Given the description of an element on the screen output the (x, y) to click on. 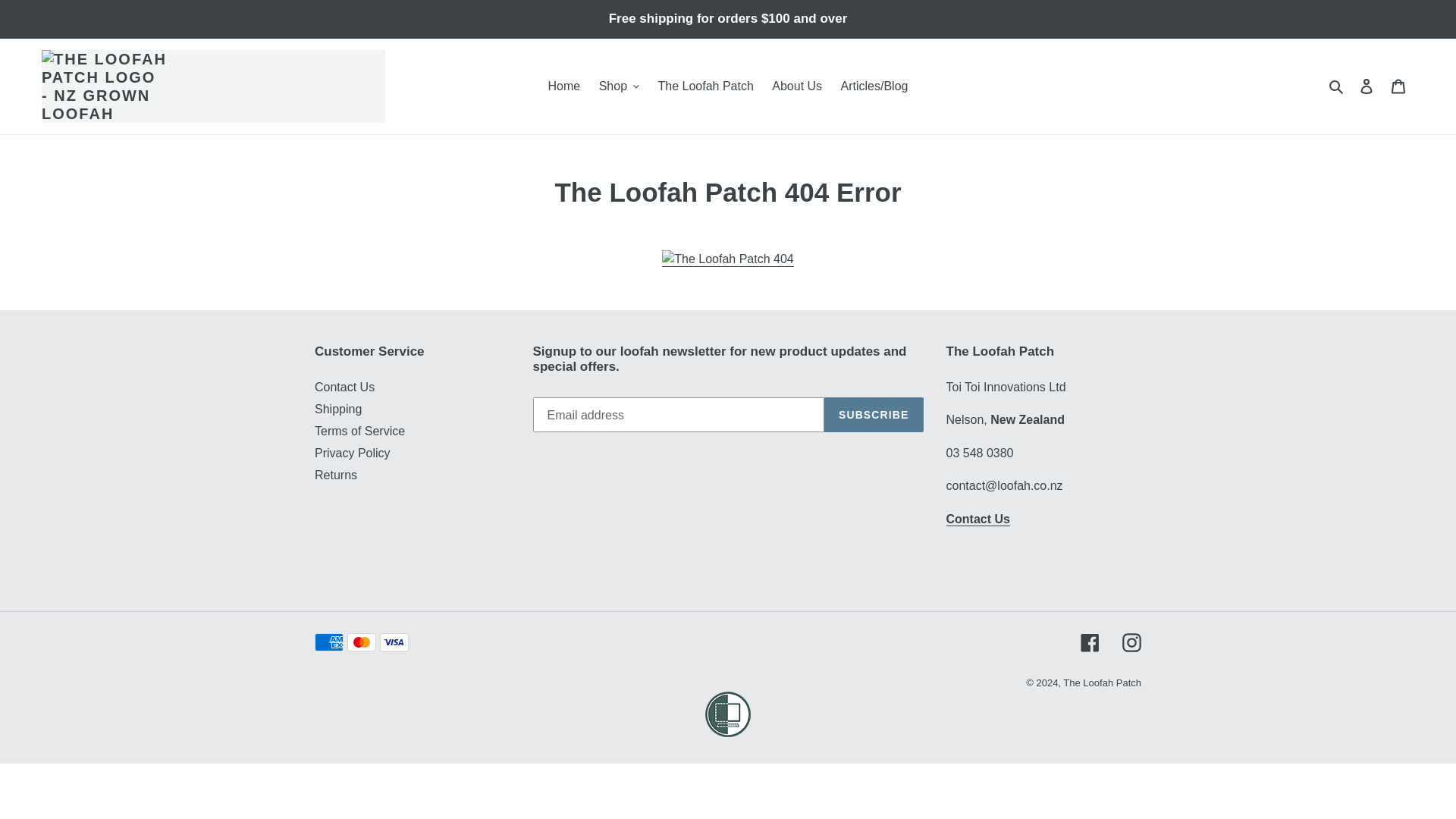
The Loofah Patch (705, 85)
Terms of Service (359, 431)
Home (564, 85)
Contact Us (344, 386)
The Loofah Patch Home (727, 258)
Returns (335, 474)
Contact Us (978, 519)
Privacy Policy (352, 452)
Shipping (337, 408)
Log in (1366, 86)
